Given the description of an element on the screen output the (x, y) to click on. 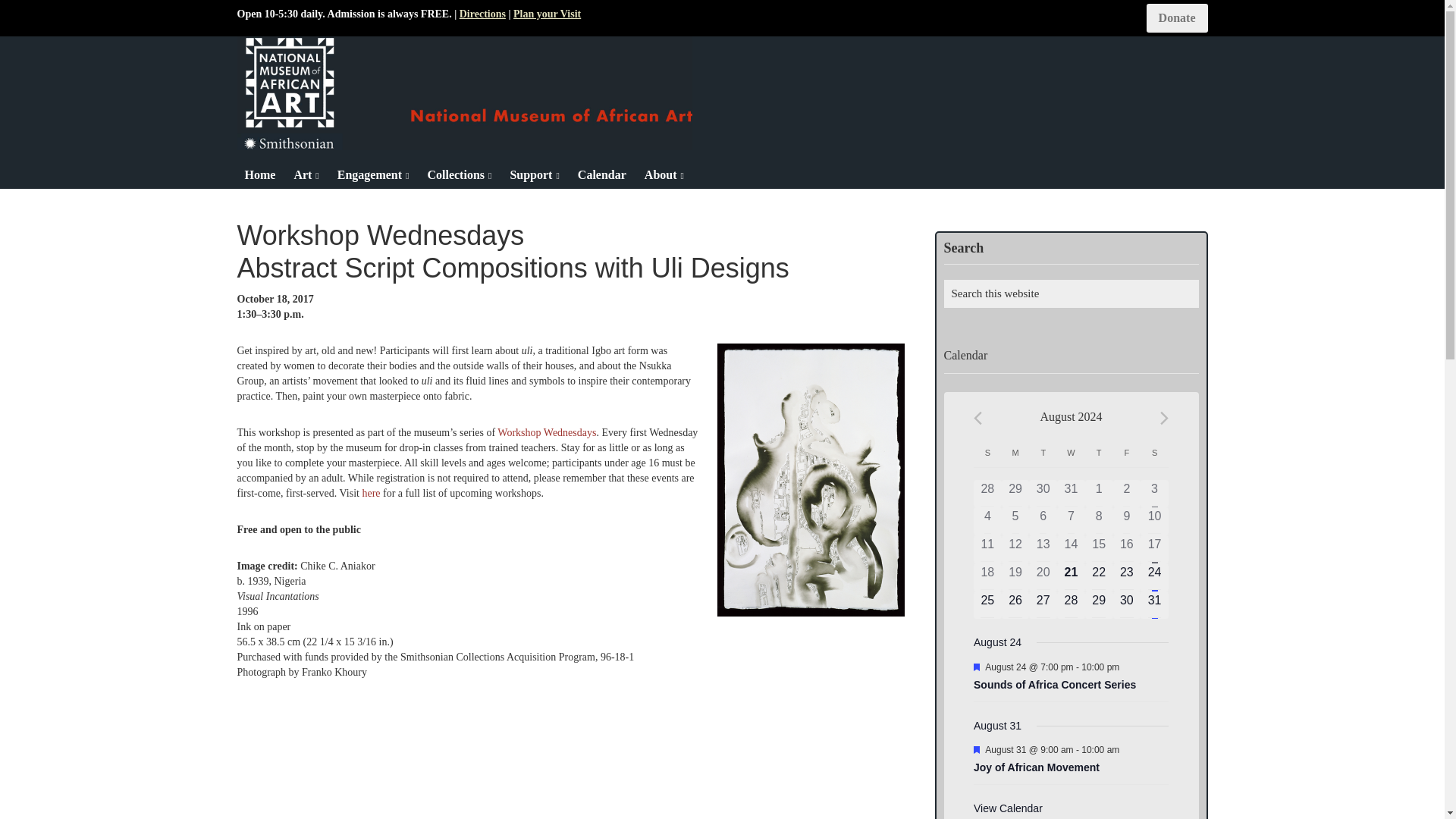
Engagement (373, 175)
Collections (459, 175)
Directions (482, 13)
Calendar (601, 175)
Donate (1177, 18)
National Museum of African Art - Smithsonian Institution (463, 92)
Donate (1177, 18)
Home (258, 175)
